Given the description of an element on the screen output the (x, y) to click on. 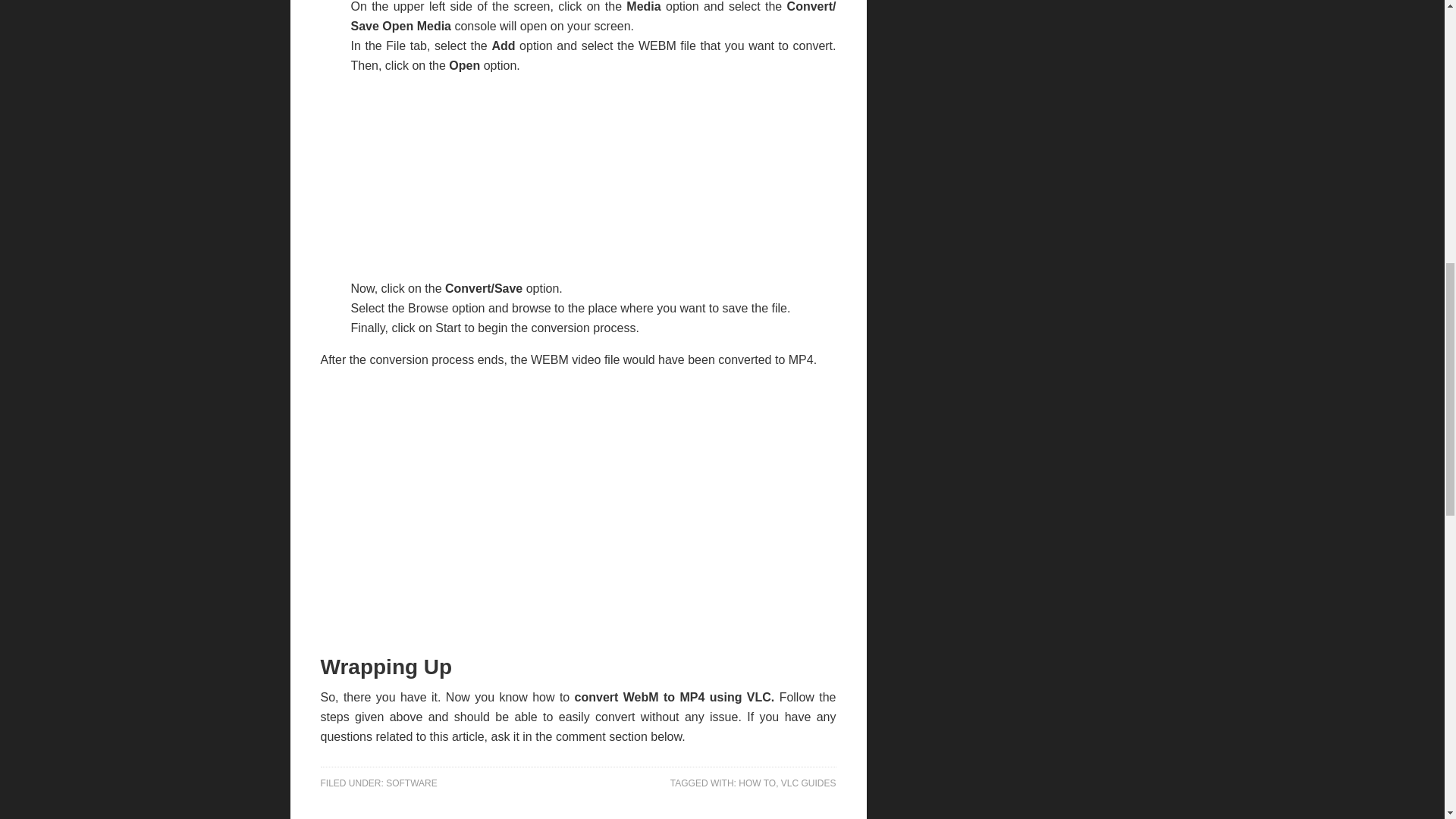
HOW TO (757, 783)
YouTube video player (577, 508)
SOFTWARE (411, 783)
VLC GUIDES (807, 783)
